Given the description of an element on the screen output the (x, y) to click on. 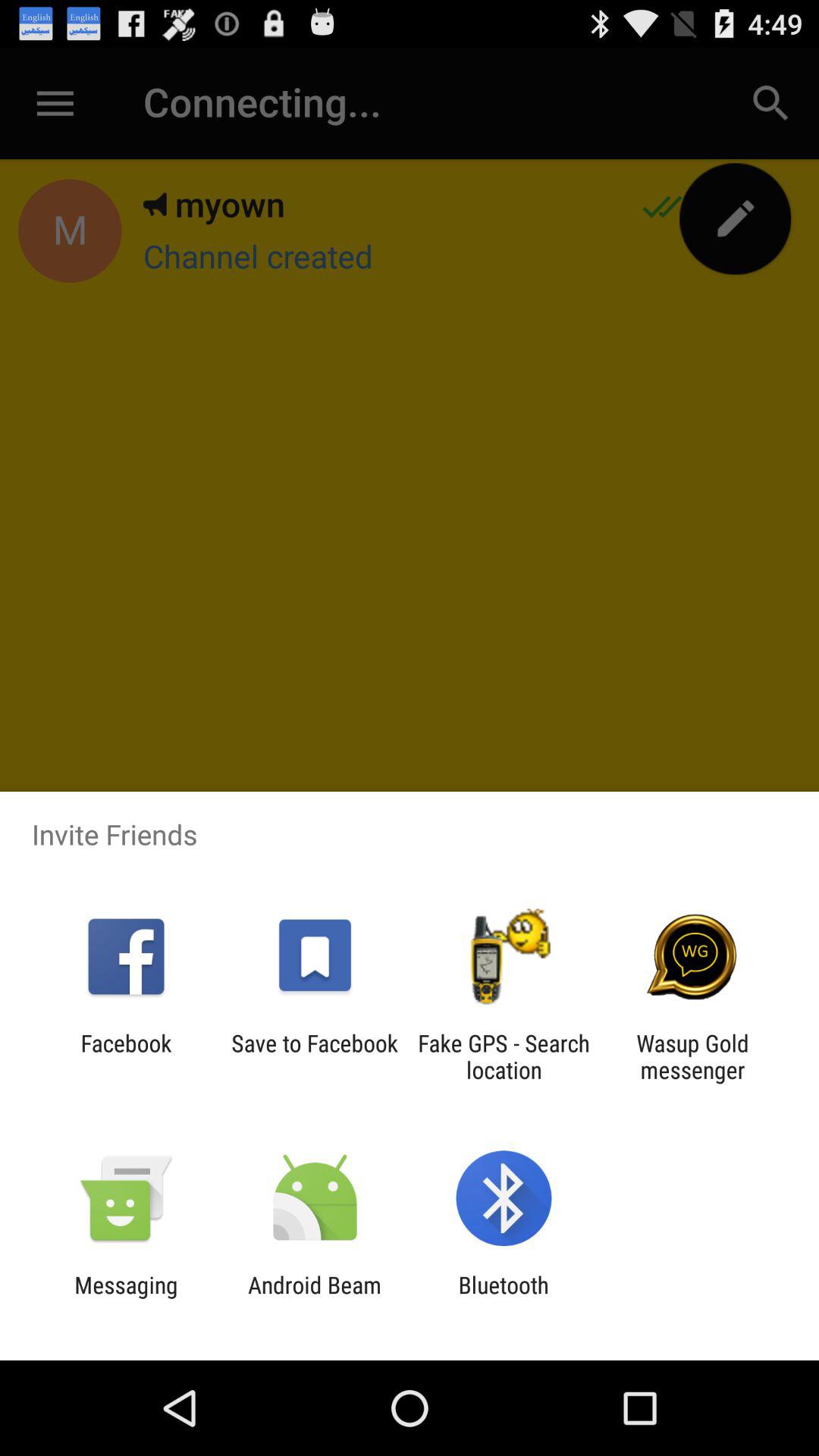
click app to the right of save to facebook app (503, 1056)
